Given the description of an element on the screen output the (x, y) to click on. 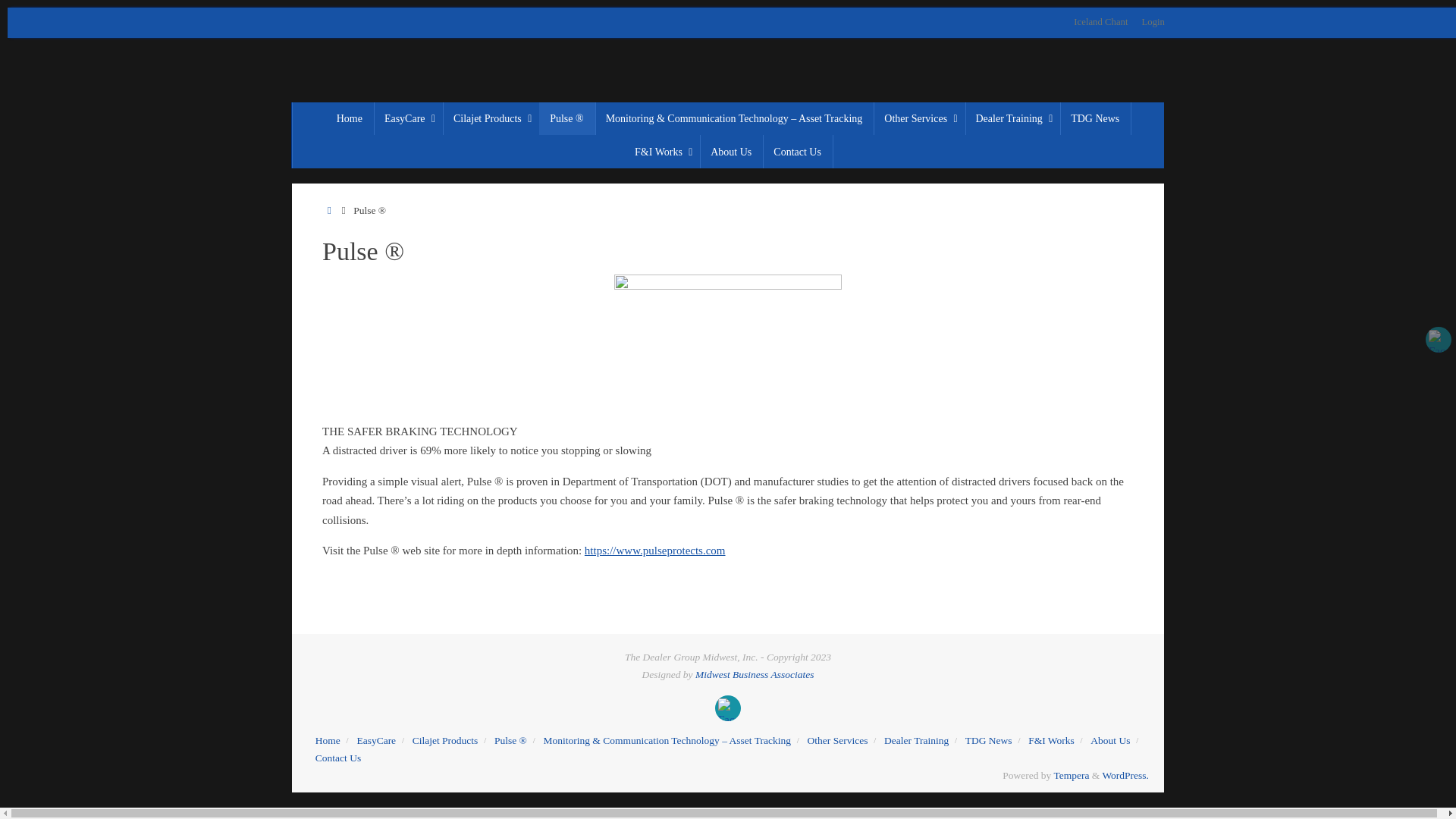
About Us (731, 151)
TDG News (1095, 118)
Facebook (1438, 339)
Cilajet Products (490, 118)
Tempera Theme by Cryout Creations (1070, 775)
Contact Us (797, 151)
Semantic Personal Publishing Platform (1125, 775)
Dealer Training (1011, 118)
Home (350, 118)
Other Services (918, 118)
Login (1152, 22)
Iceland Chant (1100, 22)
Home (328, 210)
Facebook (727, 708)
EasyCare (408, 118)
